Given the description of an element on the screen output the (x, y) to click on. 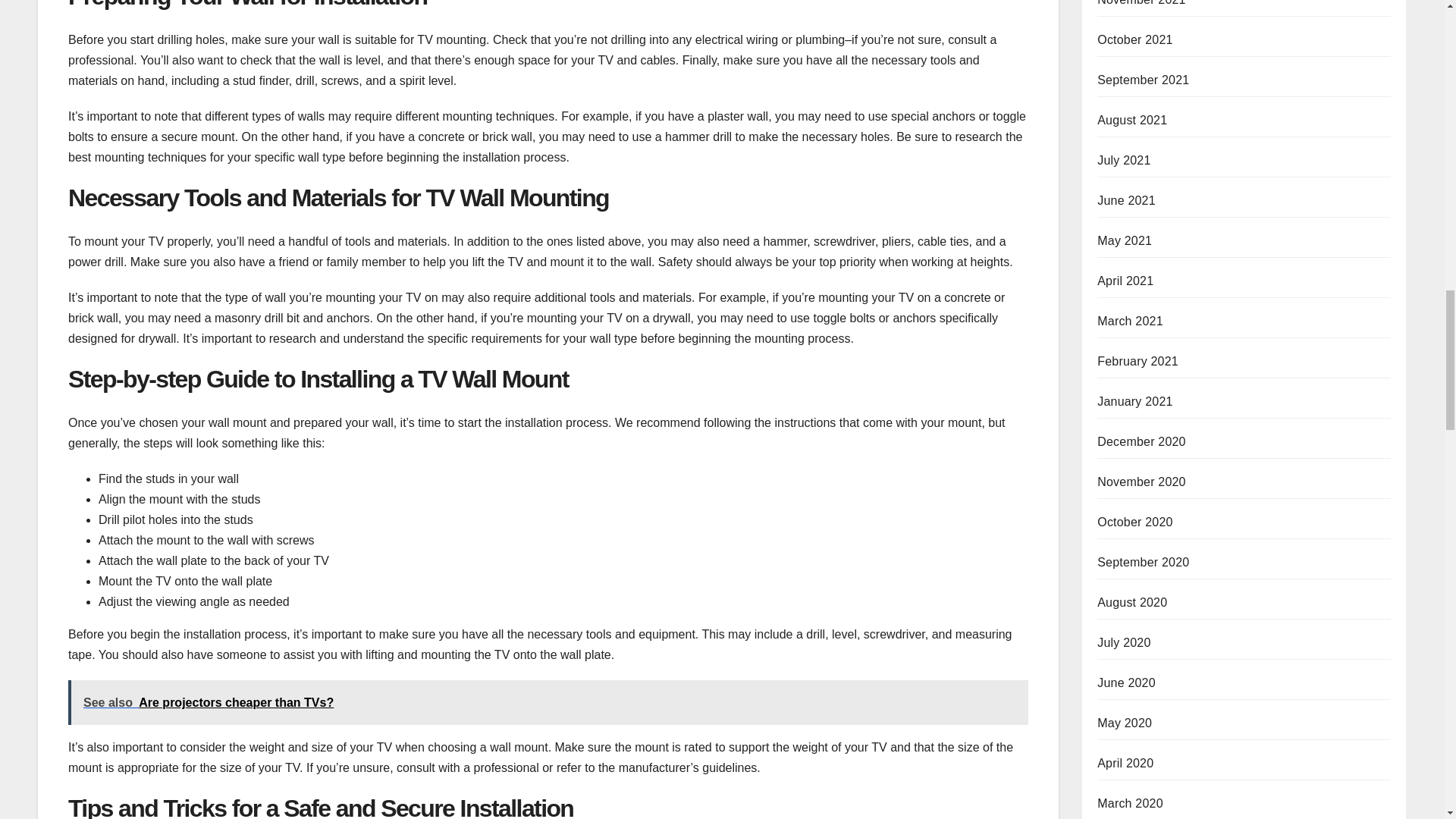
See also  Are projectors cheaper than TVs? (547, 702)
